Given the description of an element on the screen output the (x, y) to click on. 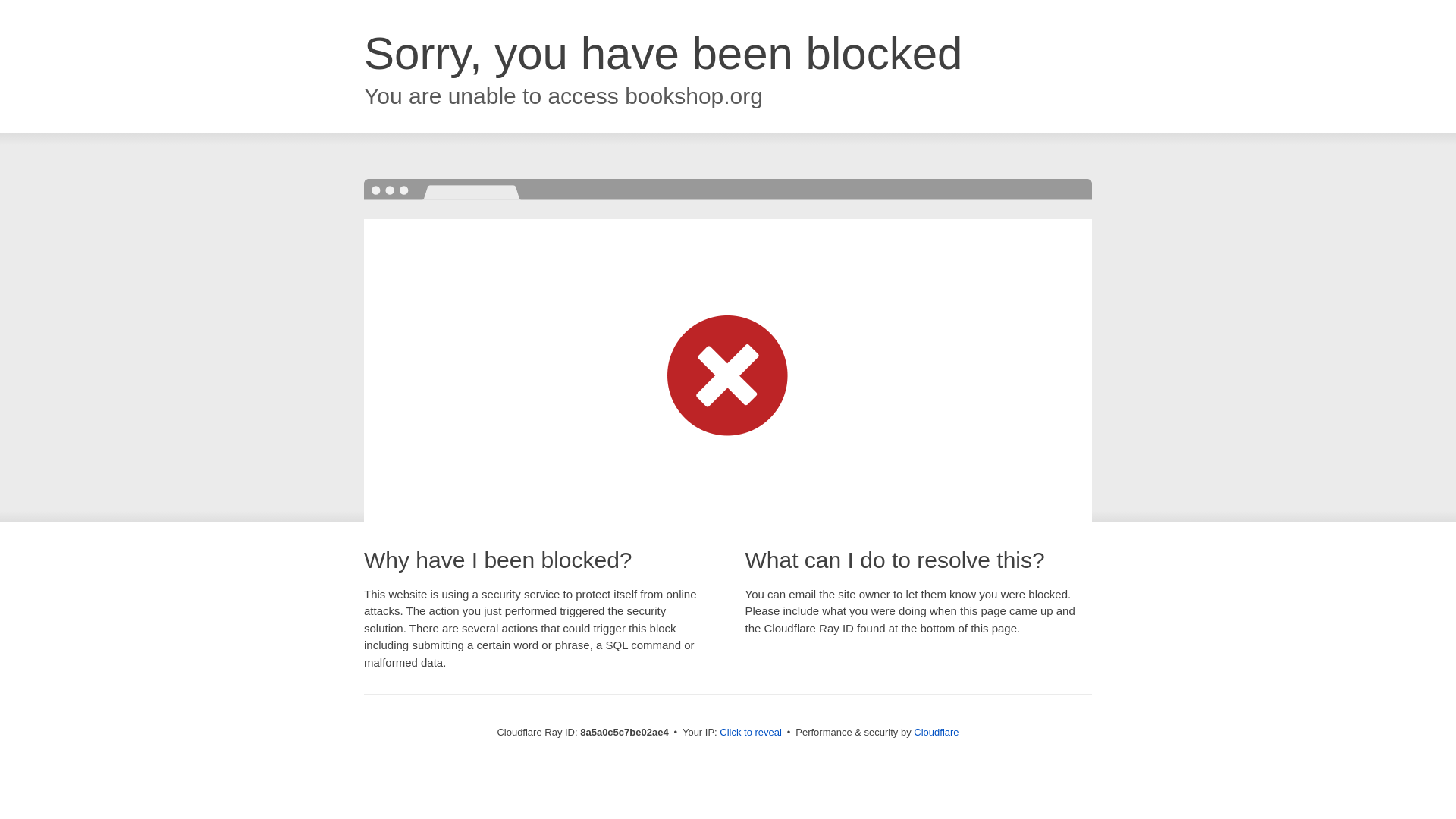
Cloudflare (936, 731)
Click to reveal (750, 732)
